Given the description of an element on the screen output the (x, y) to click on. 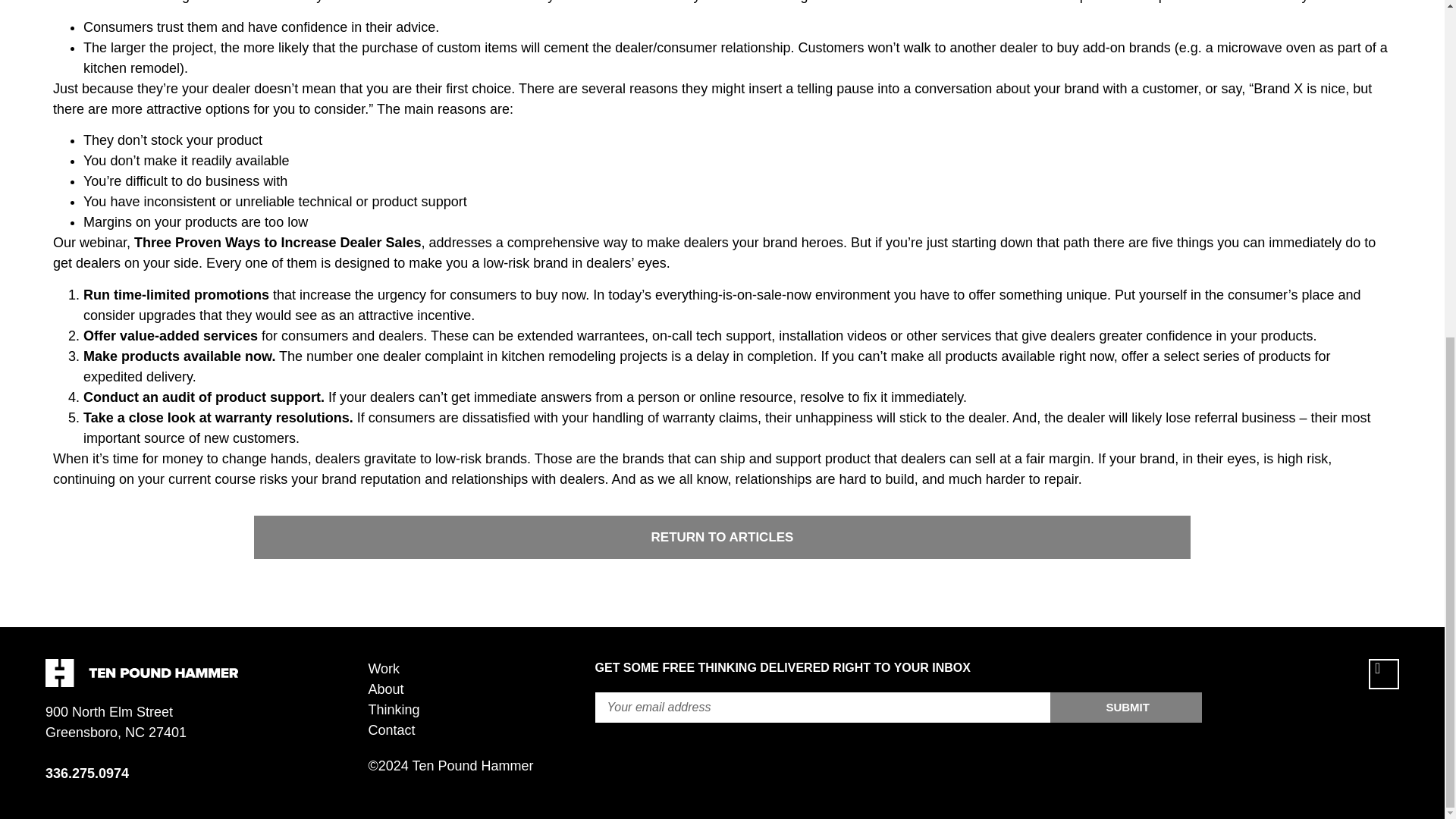
Contact (481, 730)
336.275.0974 (87, 773)
About (481, 689)
Work (481, 669)
Thinking (481, 710)
SUBMIT (1125, 707)
RETURN TO ARTICLES (722, 536)
Three Proven Ways to Increase Dealer Sales (277, 242)
